Given the description of an element on the screen output the (x, y) to click on. 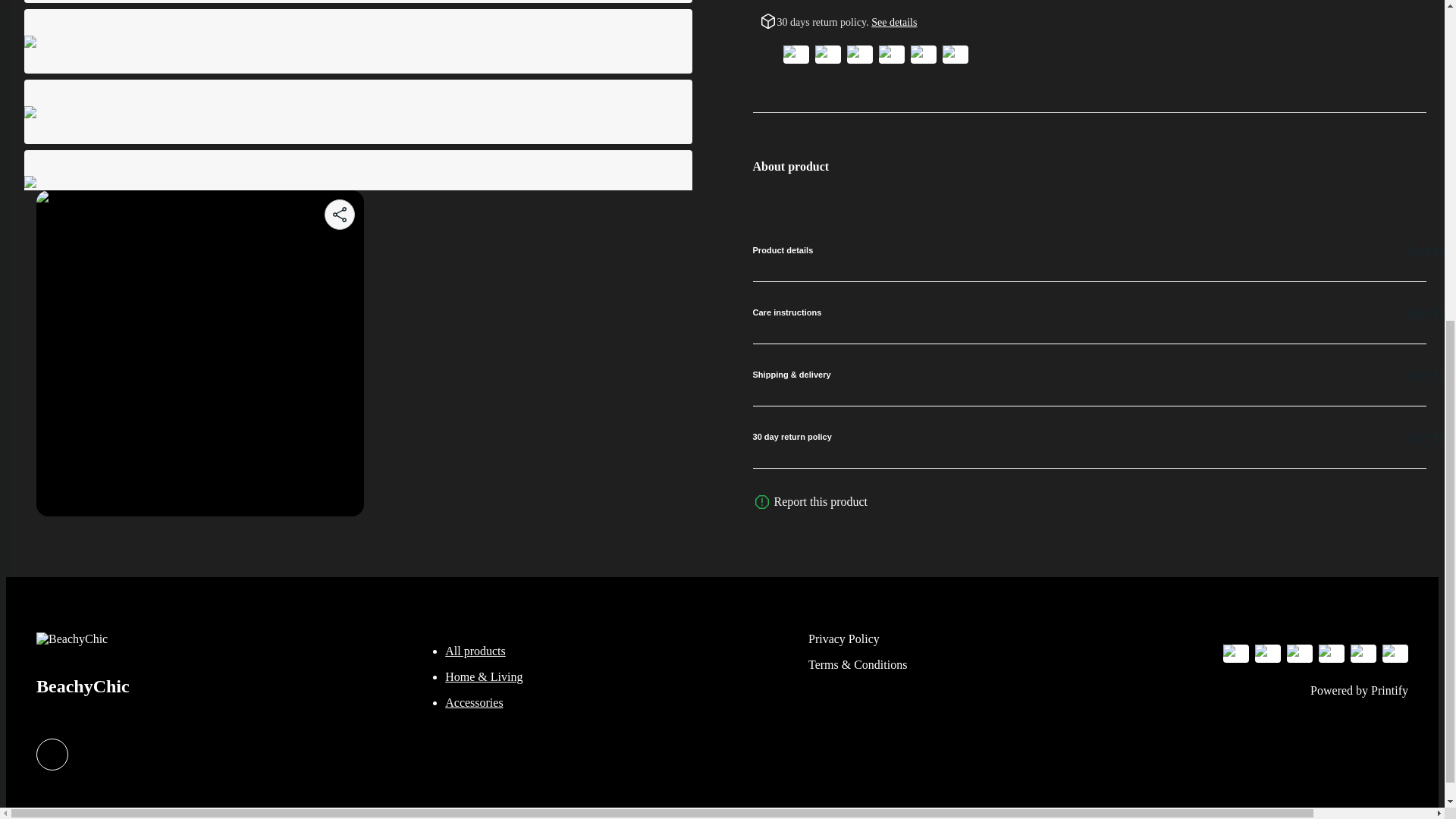
BeachyChic (82, 676)
All products (475, 651)
Heart-Shaped Mug product main image (199, 119)
Product details (1089, 250)
See details (893, 21)
Care instructions (1089, 312)
About product (1089, 166)
30 day return policy (1089, 437)
Privacy Policy (843, 638)
Report this product (820, 501)
